Given the description of an element on the screen output the (x, y) to click on. 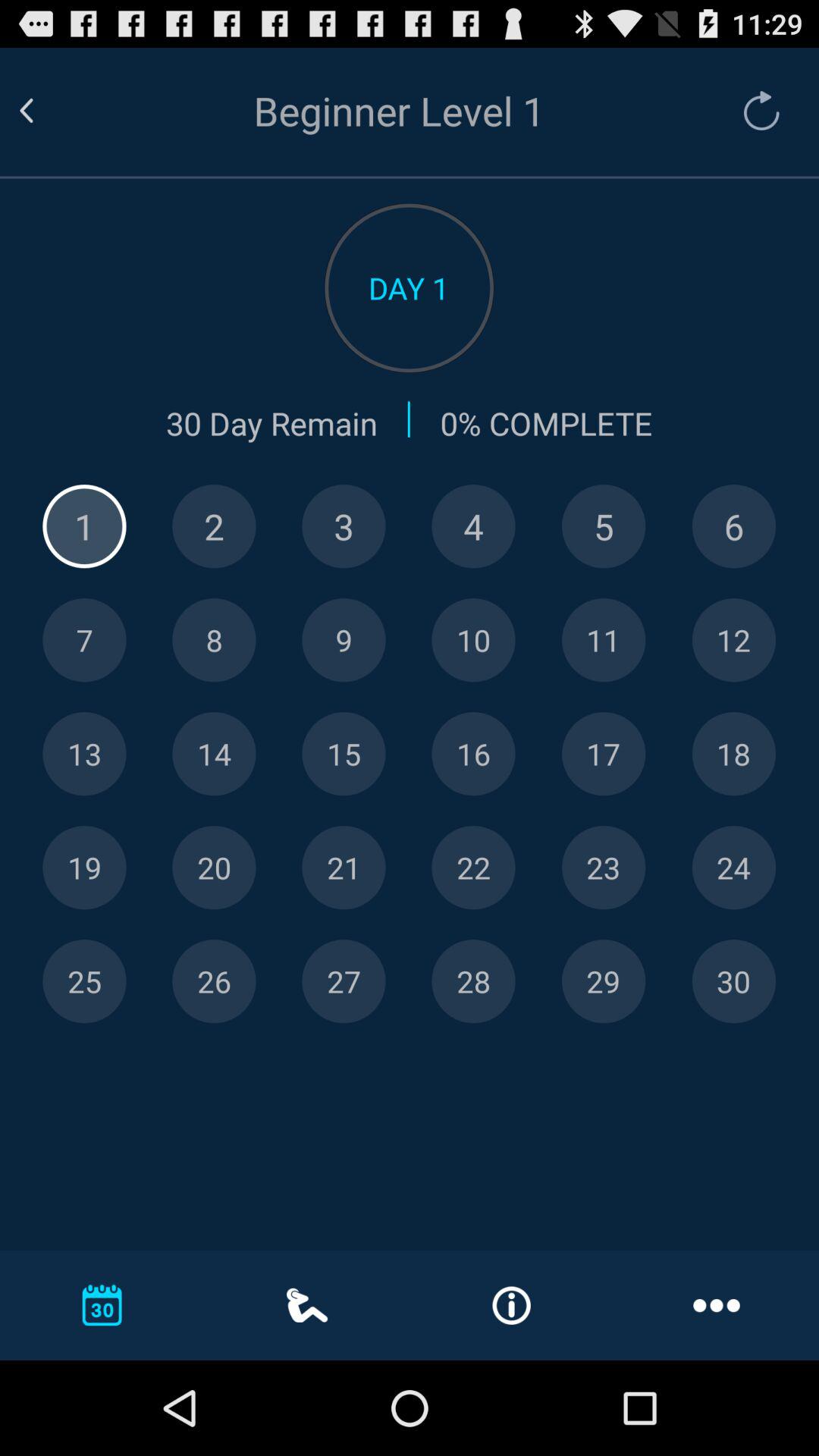
go back (44, 110)
